Given the description of an element on the screen output the (x, y) to click on. 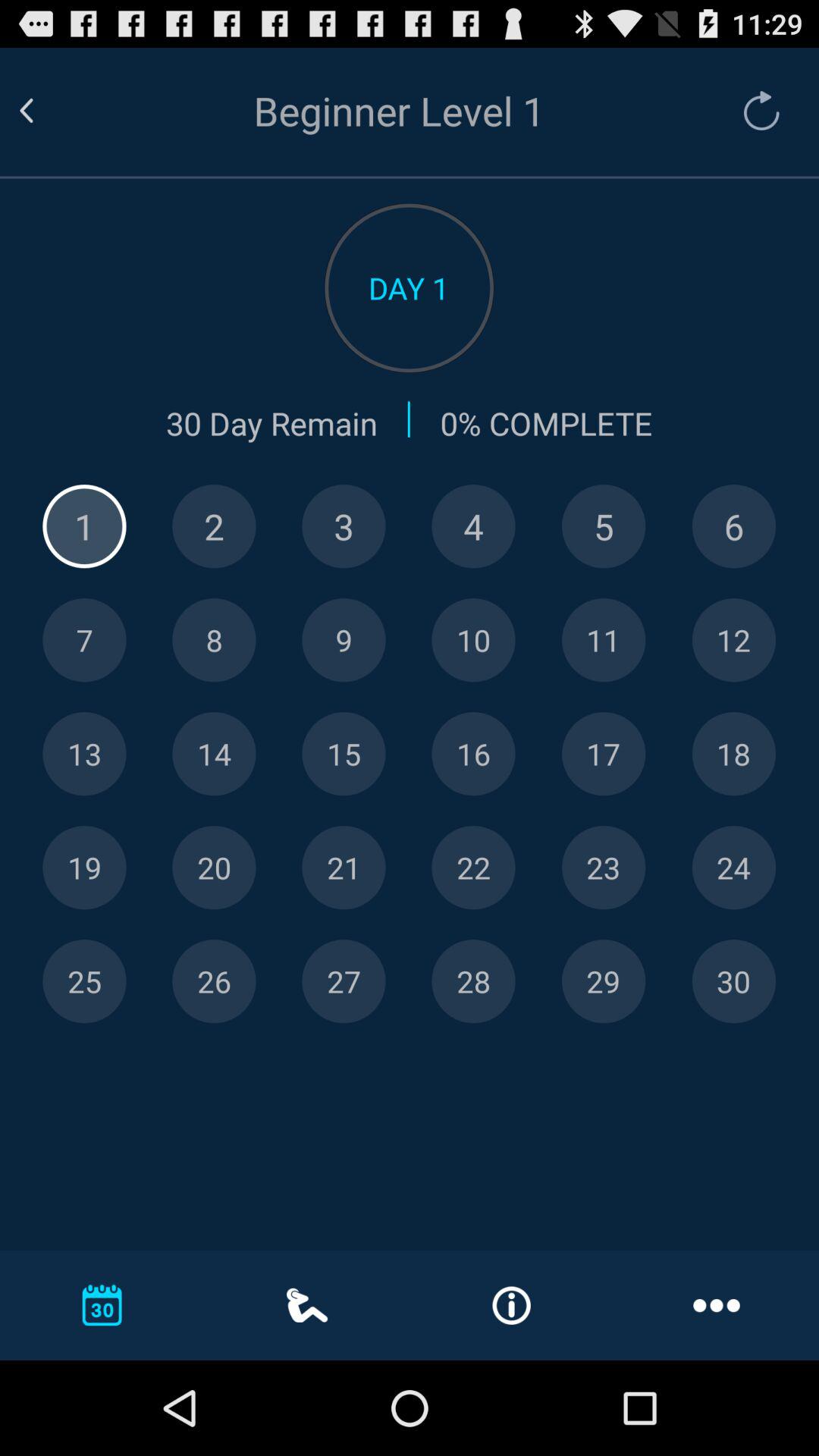
go back (44, 110)
